Given the description of an element on the screen output the (x, y) to click on. 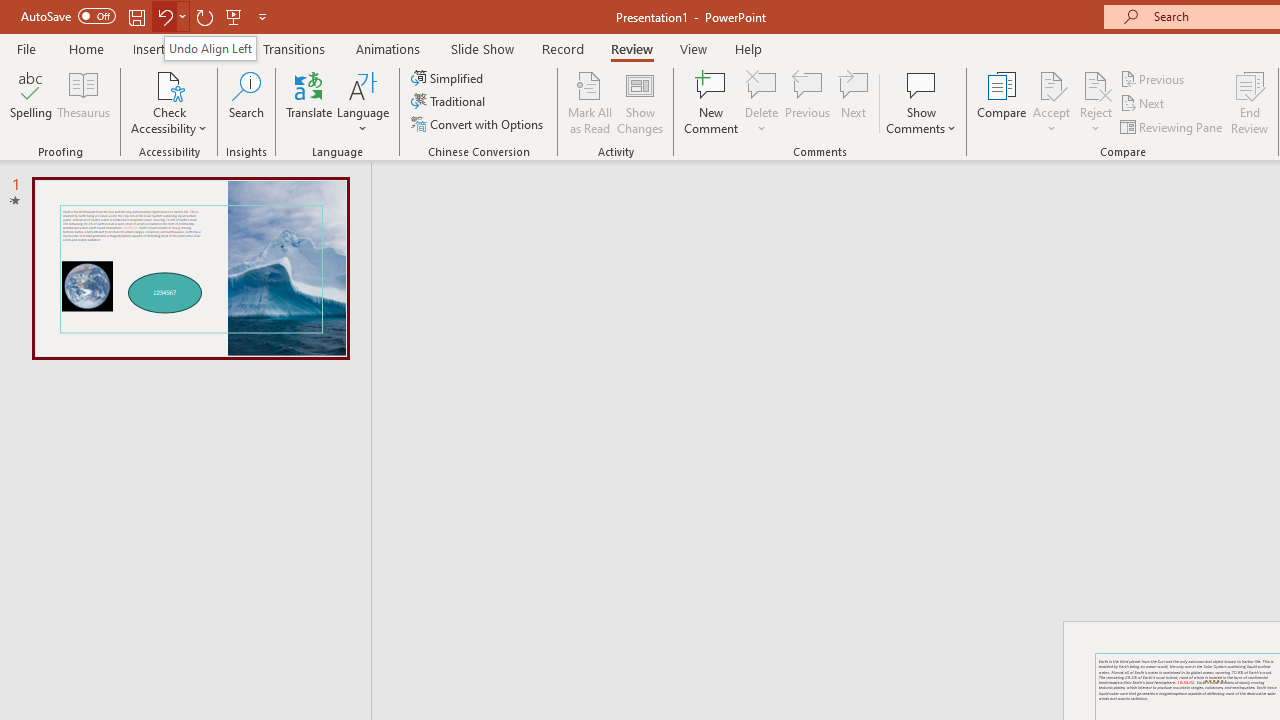
Spelling... (31, 102)
End Review (1249, 102)
Thesaurus... (83, 102)
Accept Change (1051, 84)
Reject Change (1096, 84)
